Given the description of an element on the screen output the (x, y) to click on. 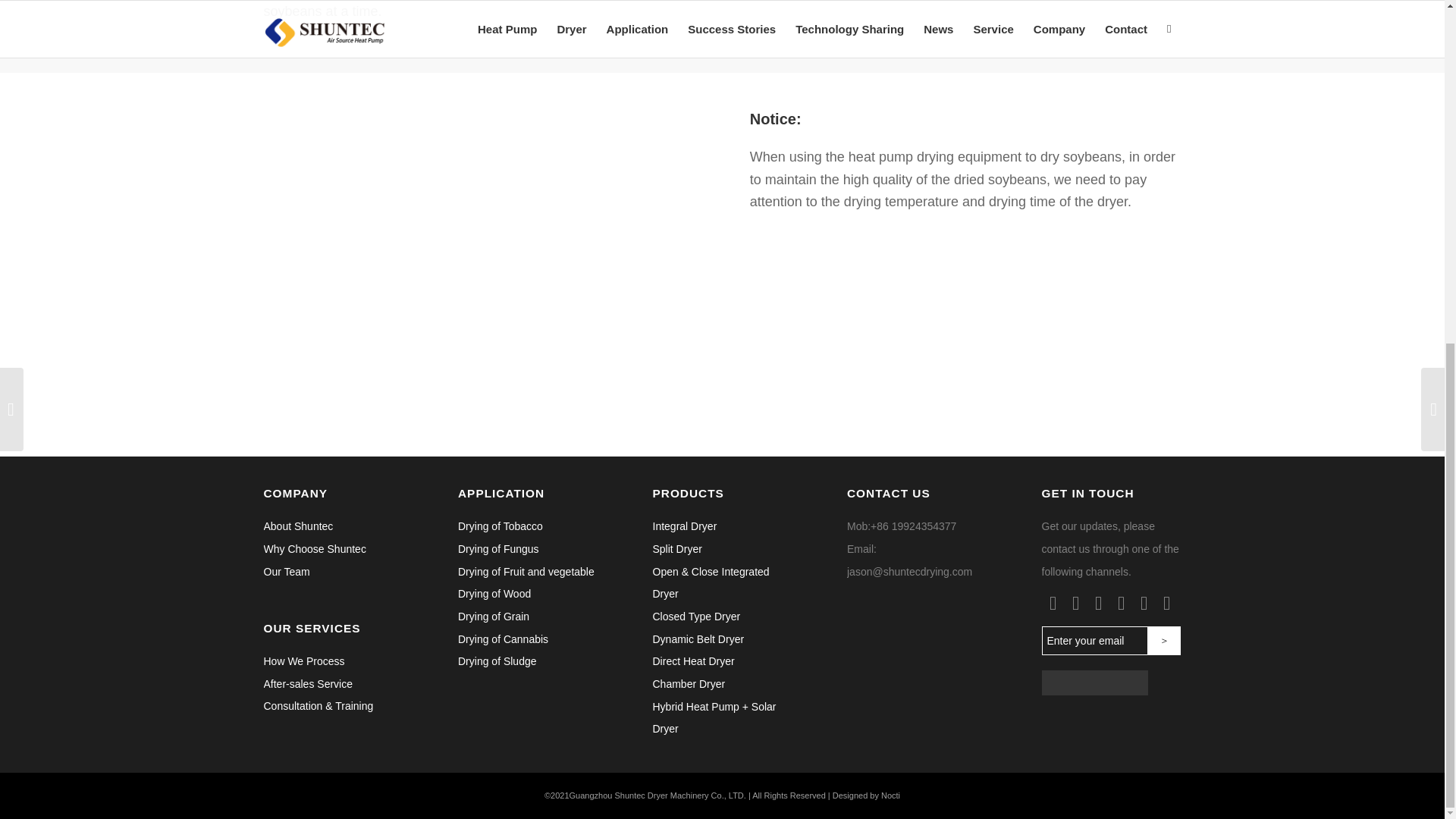
Linkedin (1098, 603)
drying-soybeans-by-heat-pump-dryer (479, 264)
Youtube (1166, 603)
Skype (1144, 603)
Facebook (1053, 603)
Pinterest (1120, 603)
Twitter (1075, 603)
